Given the description of an element on the screen output the (x, y) to click on. 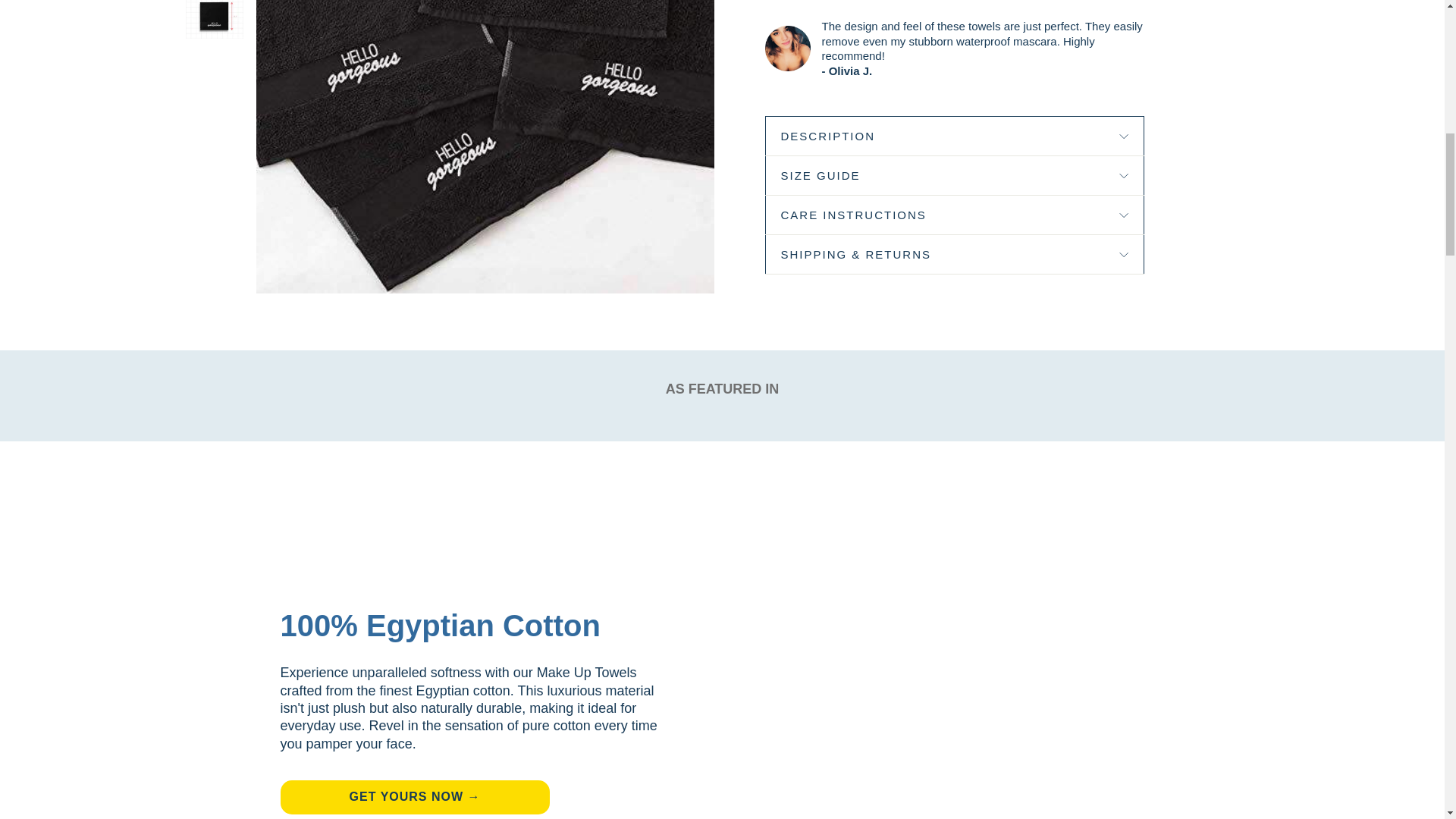
DESCRIPTION (953, 135)
